Given the description of an element on the screen output the (x, y) to click on. 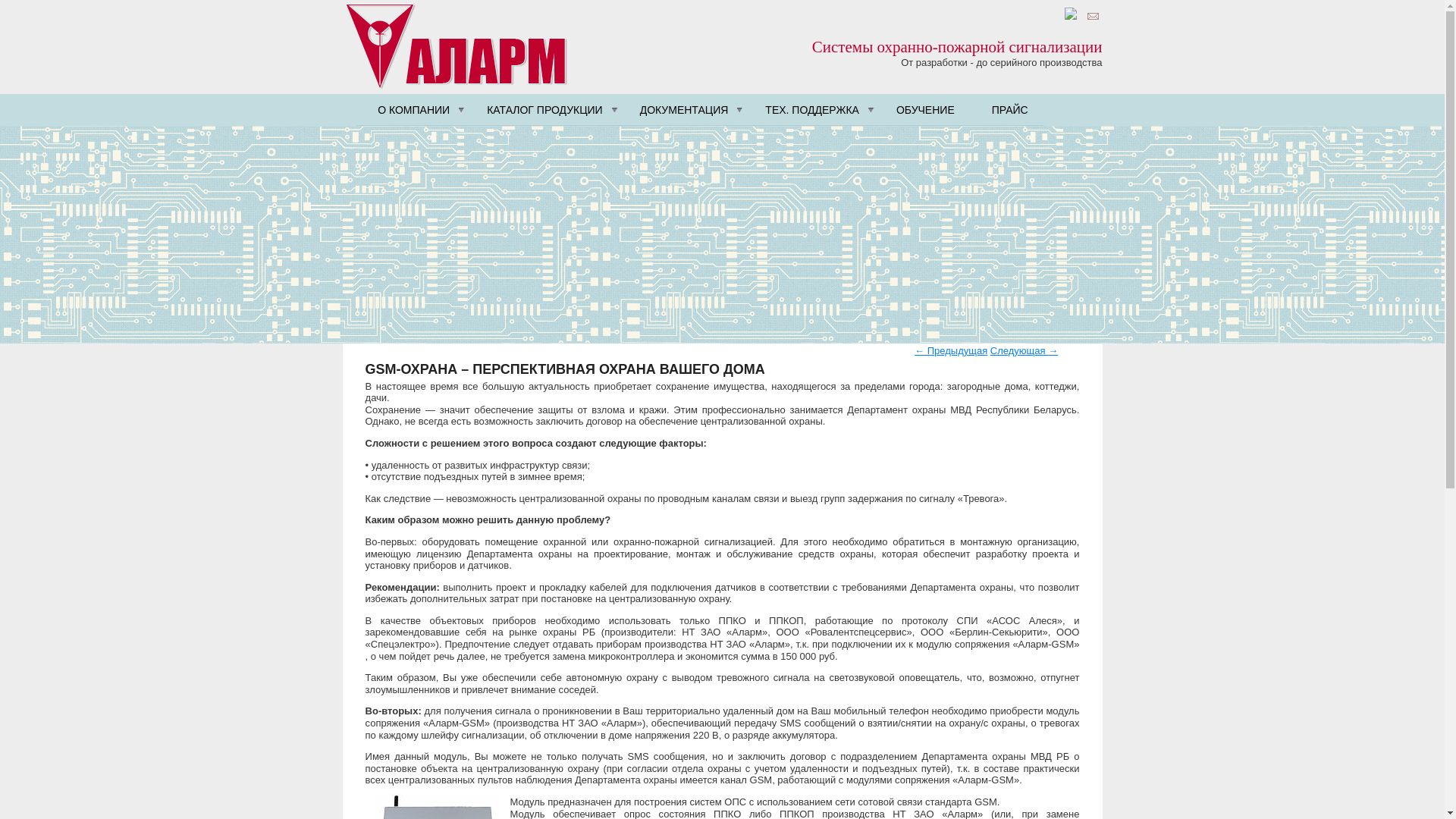
Skip to primary content Element type: text (415, 100)
Skip to secondary content Element type: text (422, 100)
